Given the description of an element on the screen output the (x, y) to click on. 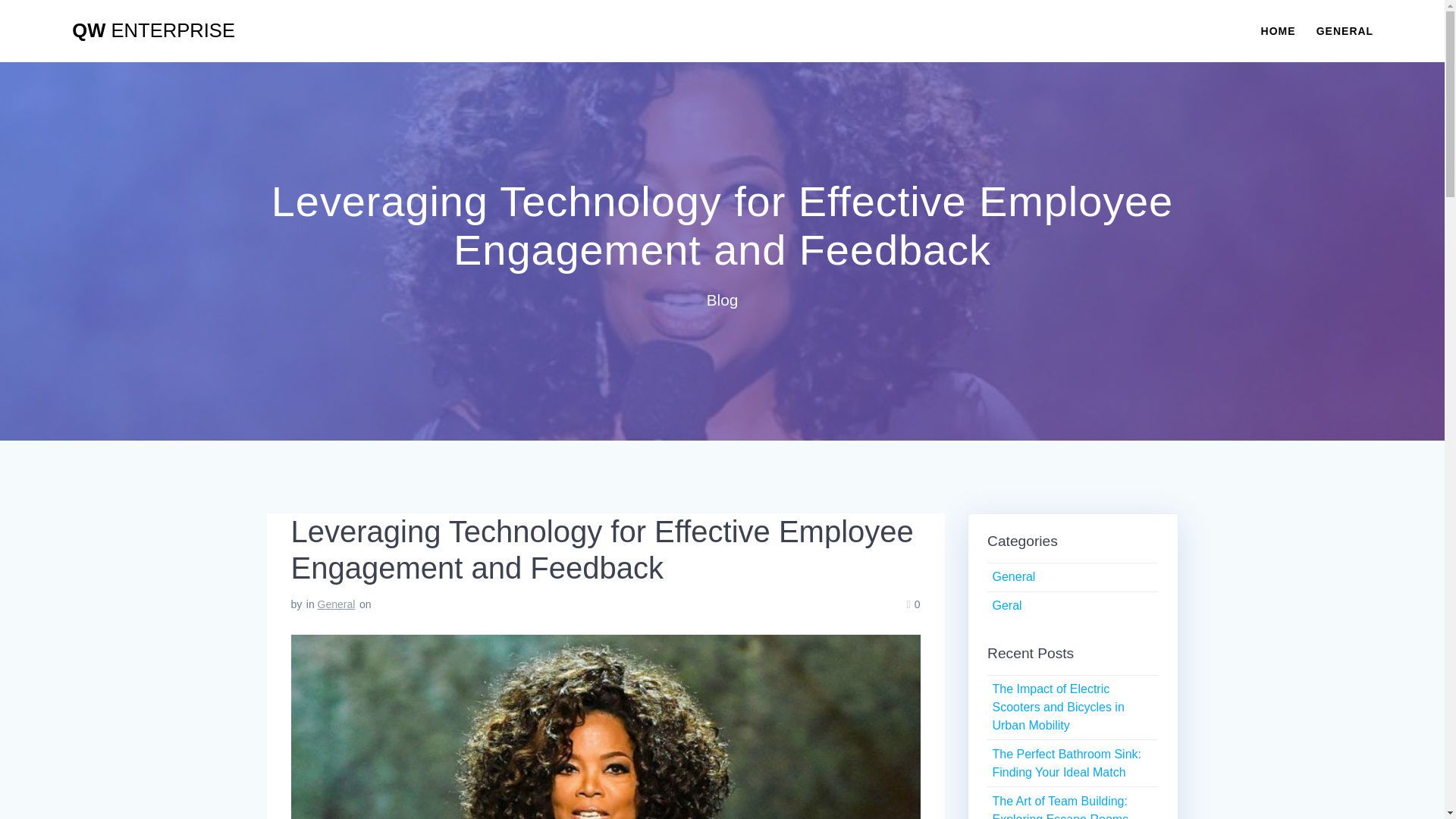
HOME (1277, 30)
The Perfect Bathroom Sink: Finding Your Ideal Match (1066, 762)
Geral (1006, 604)
The Art of Team Building: Exploring Escape Rooms (1059, 806)
General (1013, 576)
QW ENTERPRISE (152, 30)
General (336, 604)
GENERAL (1344, 30)
